Given the description of an element on the screen output the (x, y) to click on. 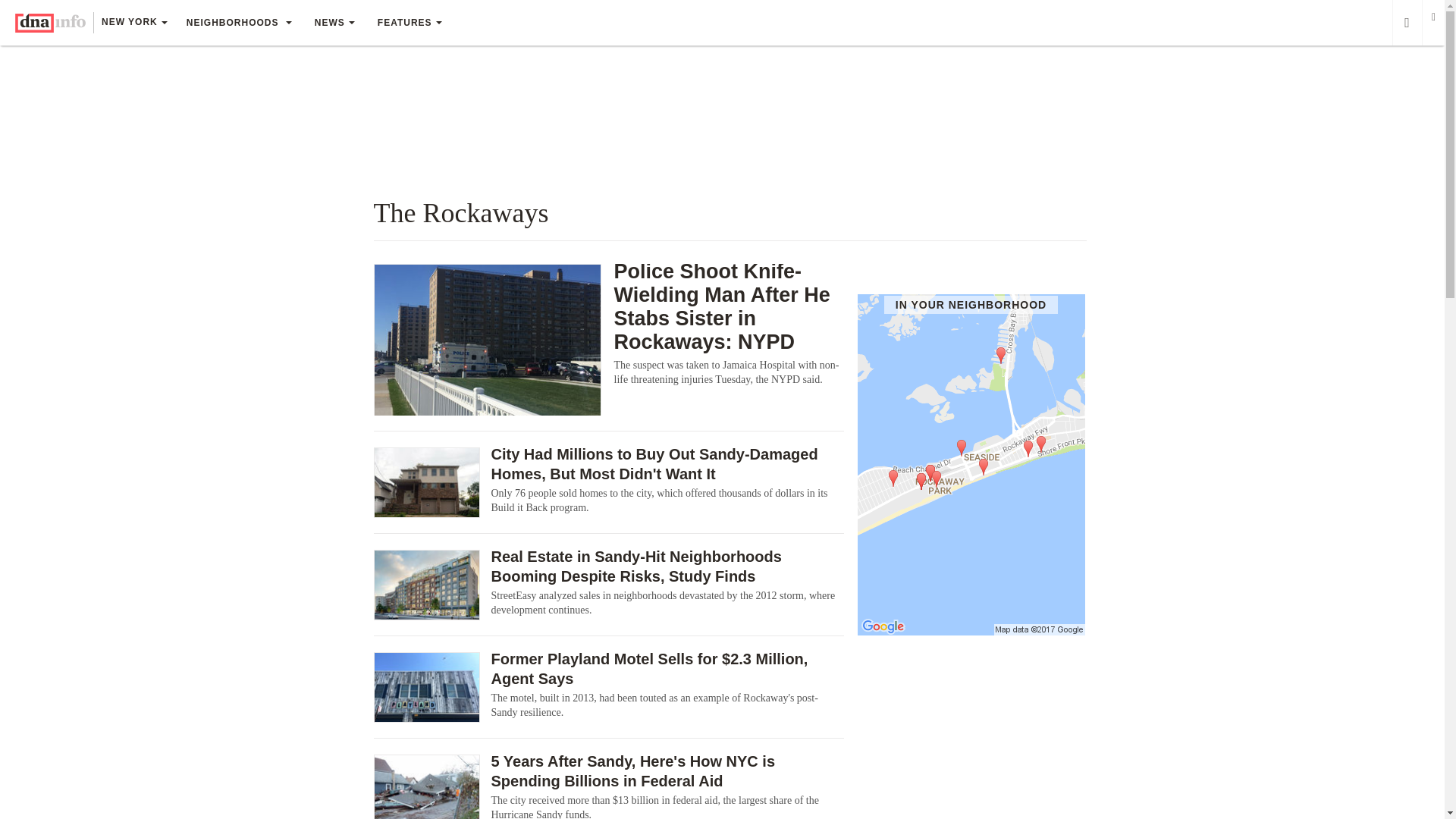
New York - Home (49, 22)
NEW YORK (133, 23)
NEWS (334, 22)
NEIGHBORHOODS (238, 22)
